Given the description of an element on the screen output the (x, y) to click on. 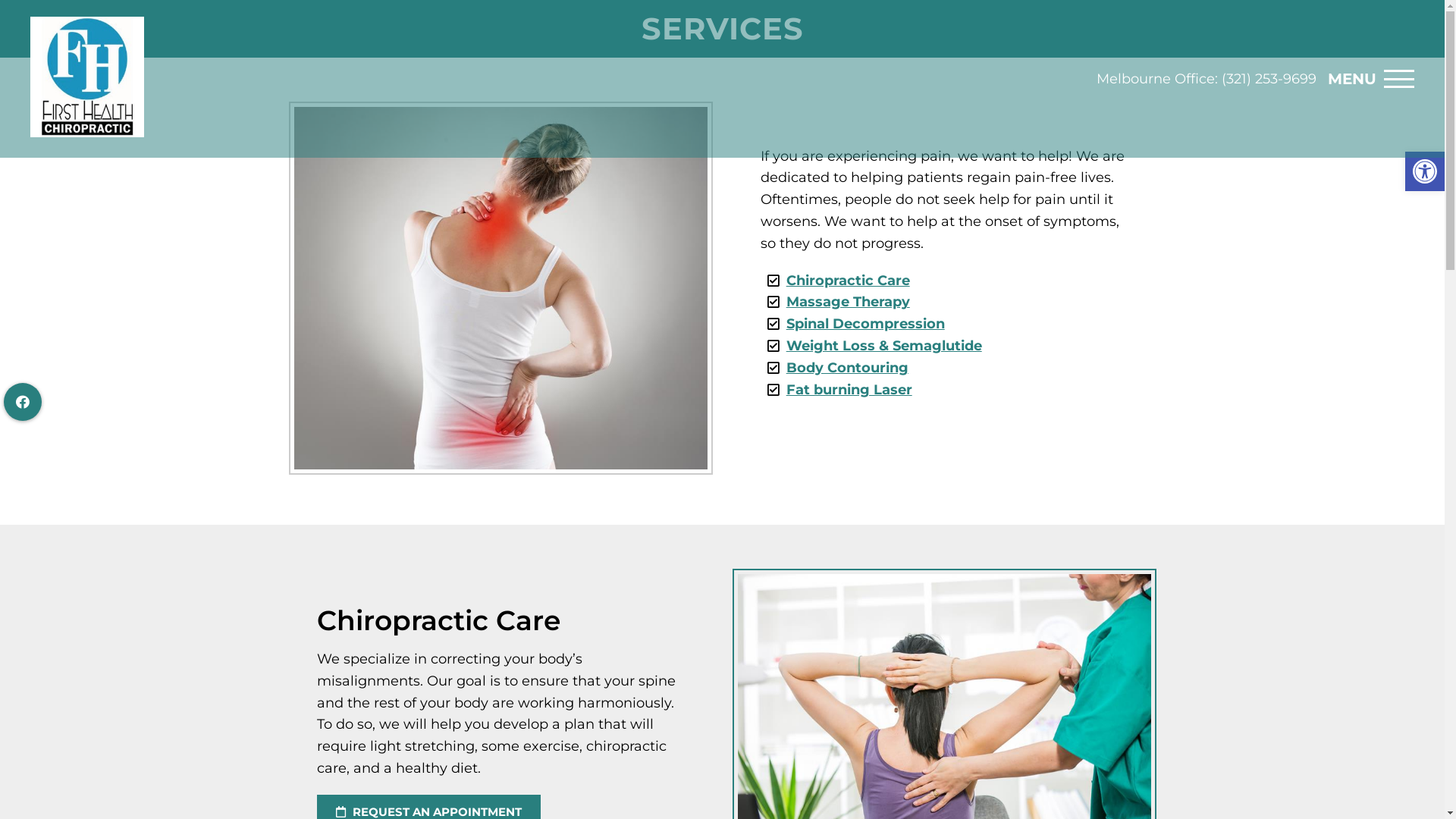
Massage Therapy Element type: text (848, 301)
Chiropractic Care Element type: text (848, 280)
Open toolbar
Accessibility Tools Element type: text (1424, 171)
Spinal Decompression Element type: text (865, 323)
Fat burning Laser Element type: text (849, 389)
Body Contouring Element type: text (847, 367)
Melbourne Office Element type: text (1155, 78)
(321) 253-9699 Element type: text (1268, 78)
Weight Loss & Semaglutide Element type: text (884, 345)
